Given the description of an element on the screen output the (x, y) to click on. 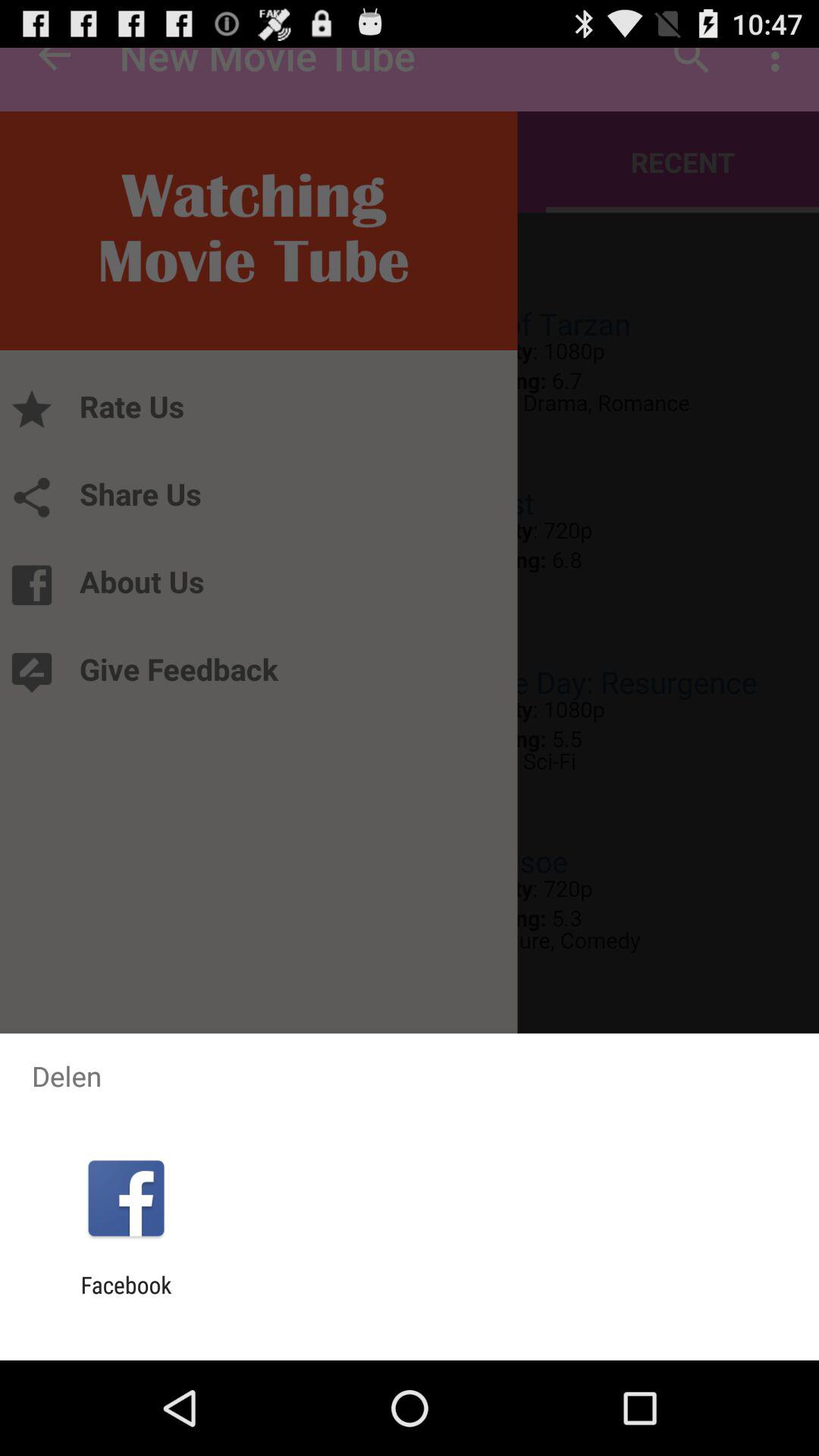
launch facebook item (125, 1298)
